Given the description of an element on the screen output the (x, y) to click on. 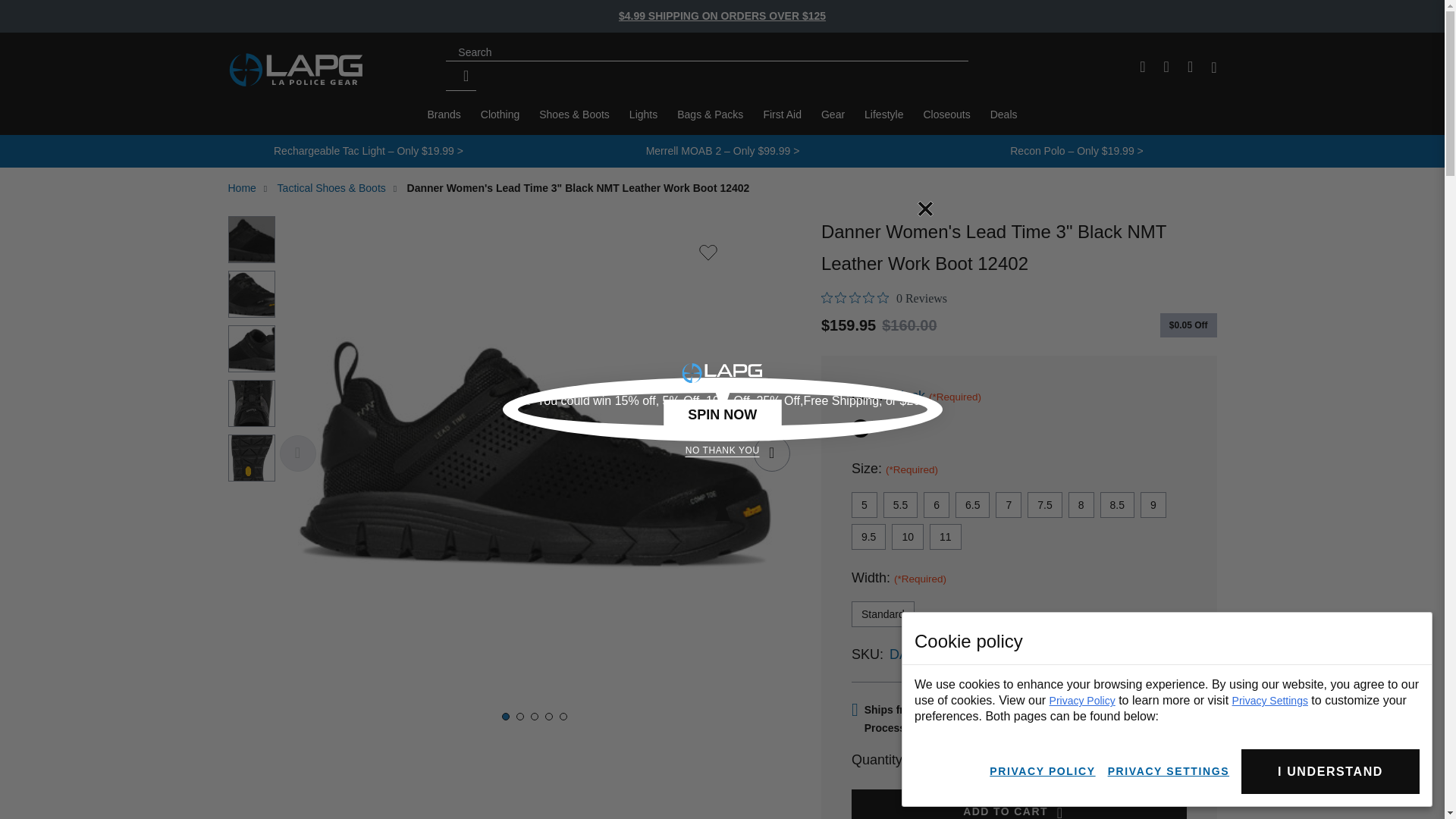
196271 (884, 298)
Add to Cart  (444, 114)
196275 (1018, 804)
196279 (961, 759)
196282 (856, 424)
